Given the description of an element on the screen output the (x, y) to click on. 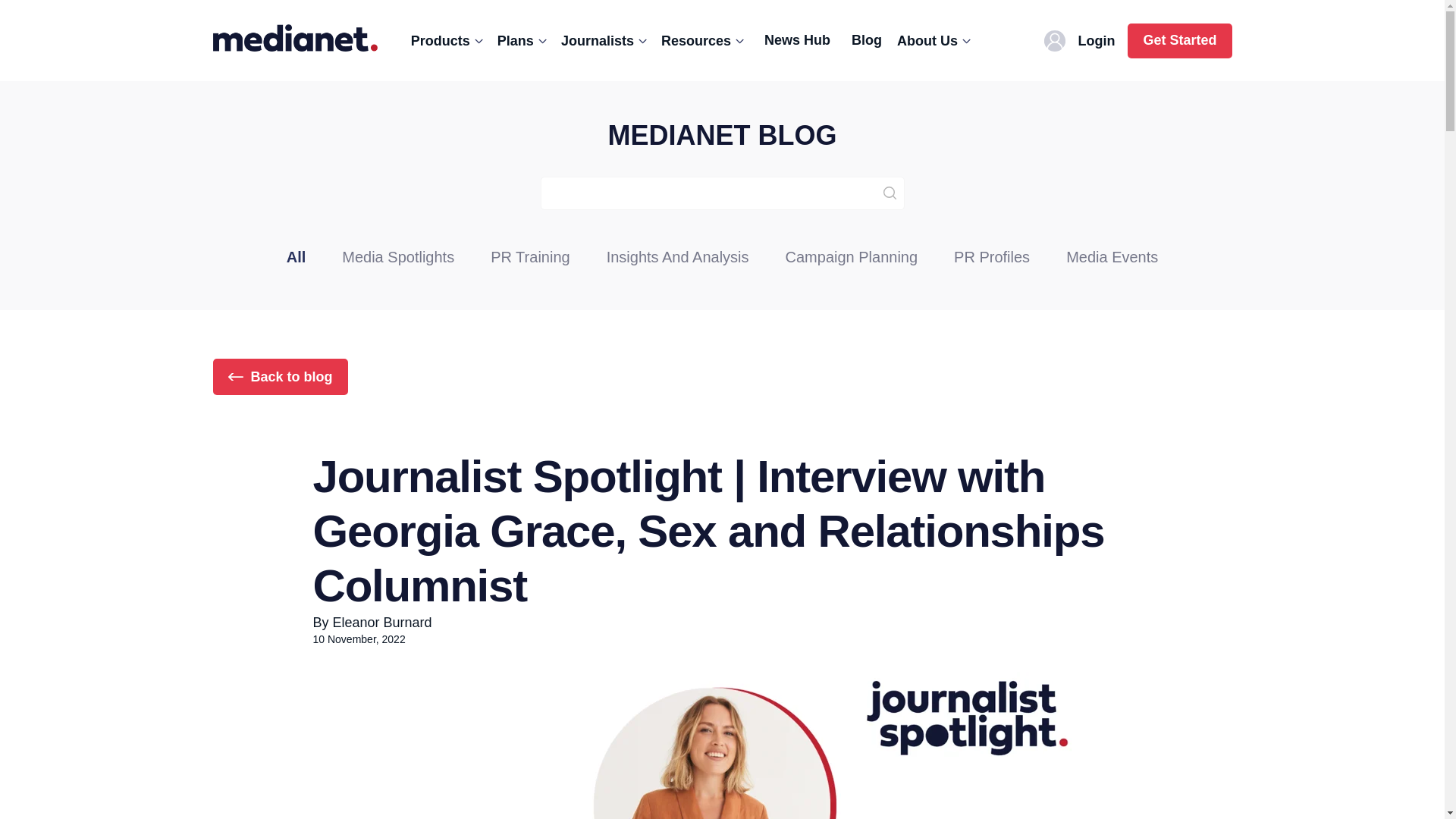
About Us (935, 40)
Journalists (606, 40)
News Hub (797, 39)
Plans (524, 40)
Medianet logo RGB 2020 (294, 37)
Resources (705, 40)
nav-profile-icon (1054, 40)
Blog (867, 39)
Products (449, 40)
